Given the description of an element on the screen output the (x, y) to click on. 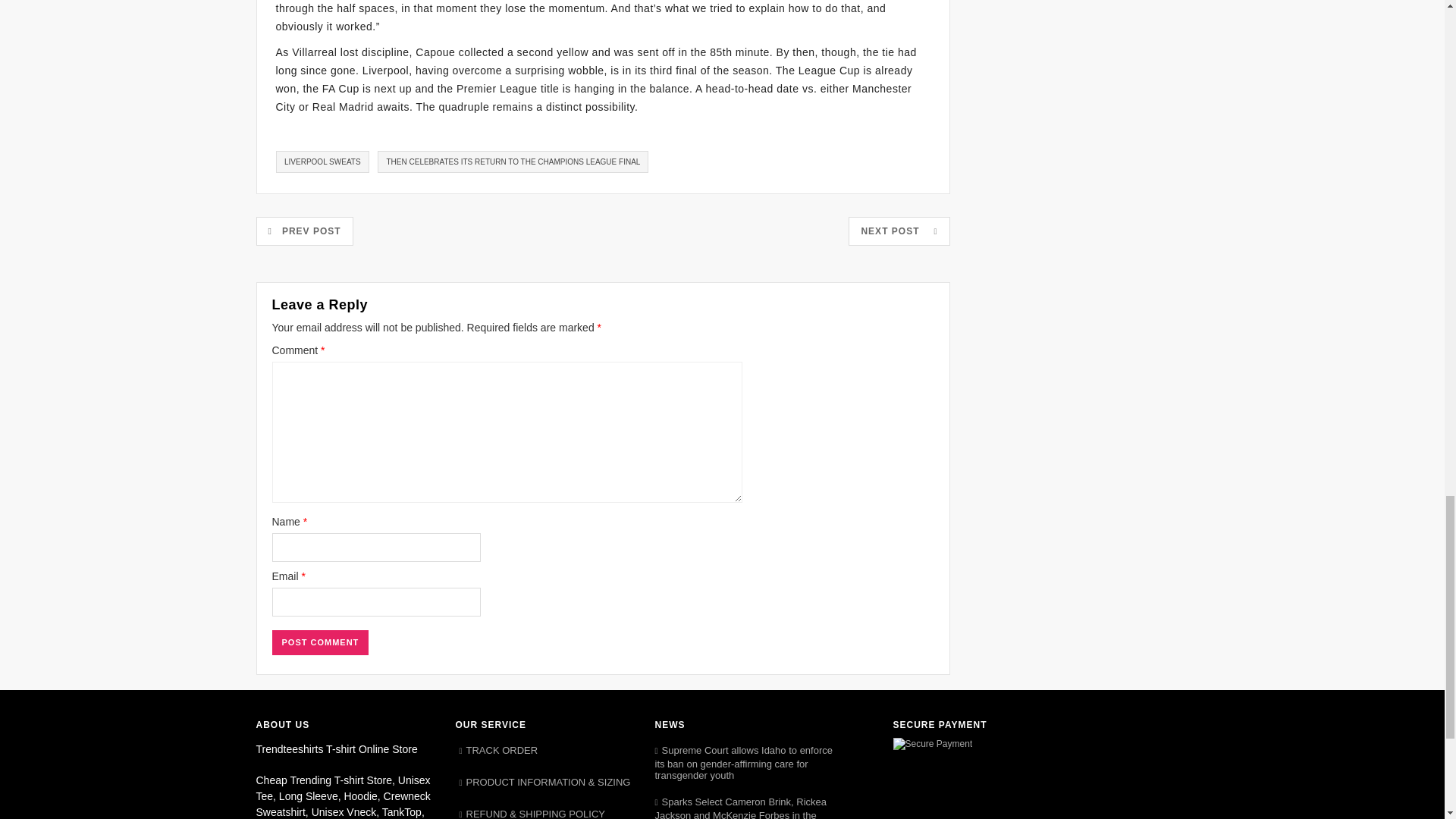
  PREV POST (304, 231)
NEXT POST   (898, 231)
THEN CELEBRATES ITS RETURN TO THE CHAMPIONS LEAGUE FINAL (512, 161)
Post Comment (319, 642)
Post Comment (319, 642)
LIVERPOOL SWEATS (322, 161)
